Given the description of an element on the screen output the (x, y) to click on. 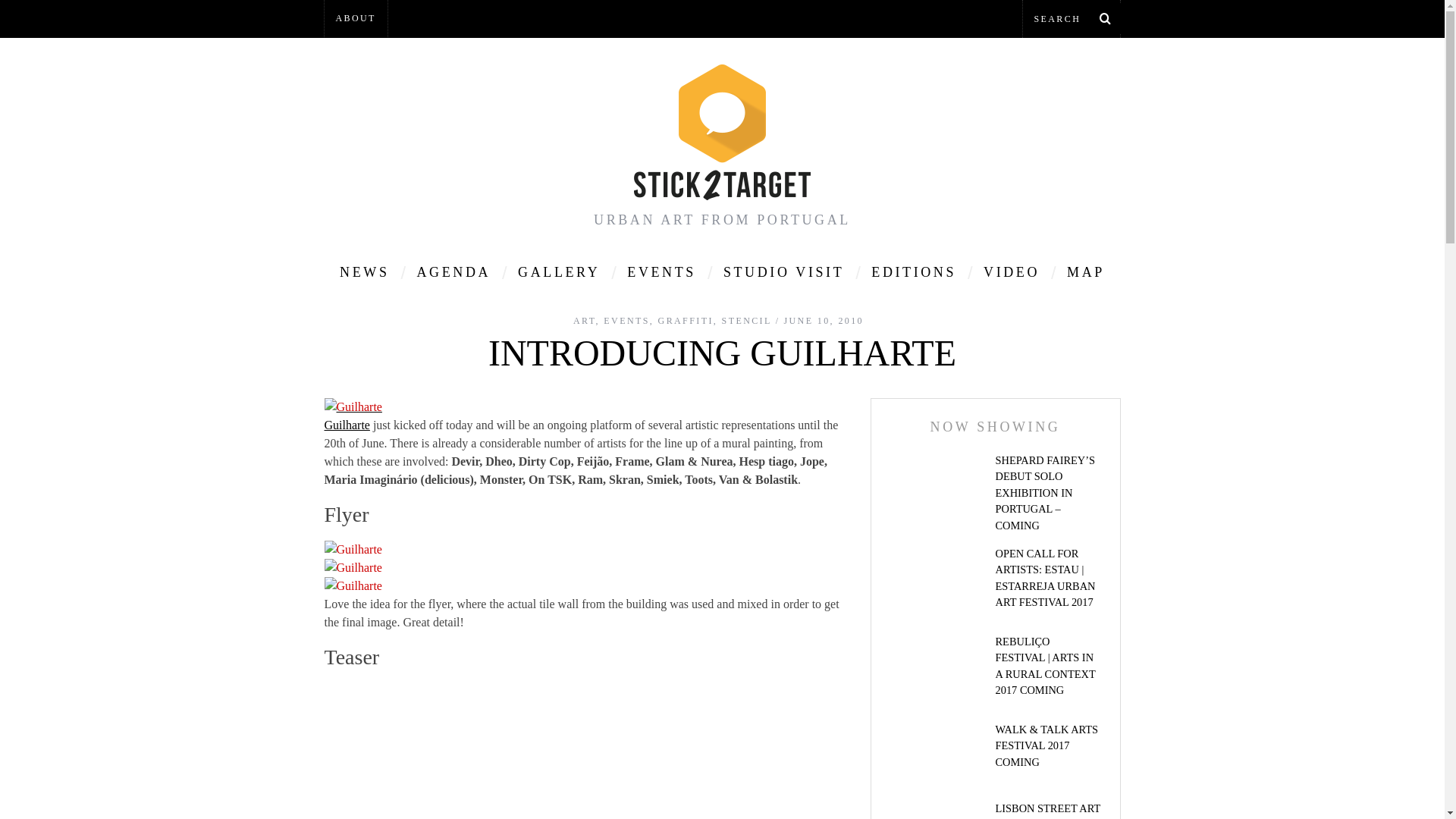
News (364, 272)
GALLERY (558, 272)
Search (1071, 18)
Agenda (453, 272)
Editions (914, 272)
AGENDA (453, 272)
Events (661, 272)
NEWS (364, 272)
EVENTS (661, 272)
STUDIO VISIT (783, 272)
